Given the description of an element on the screen output the (x, y) to click on. 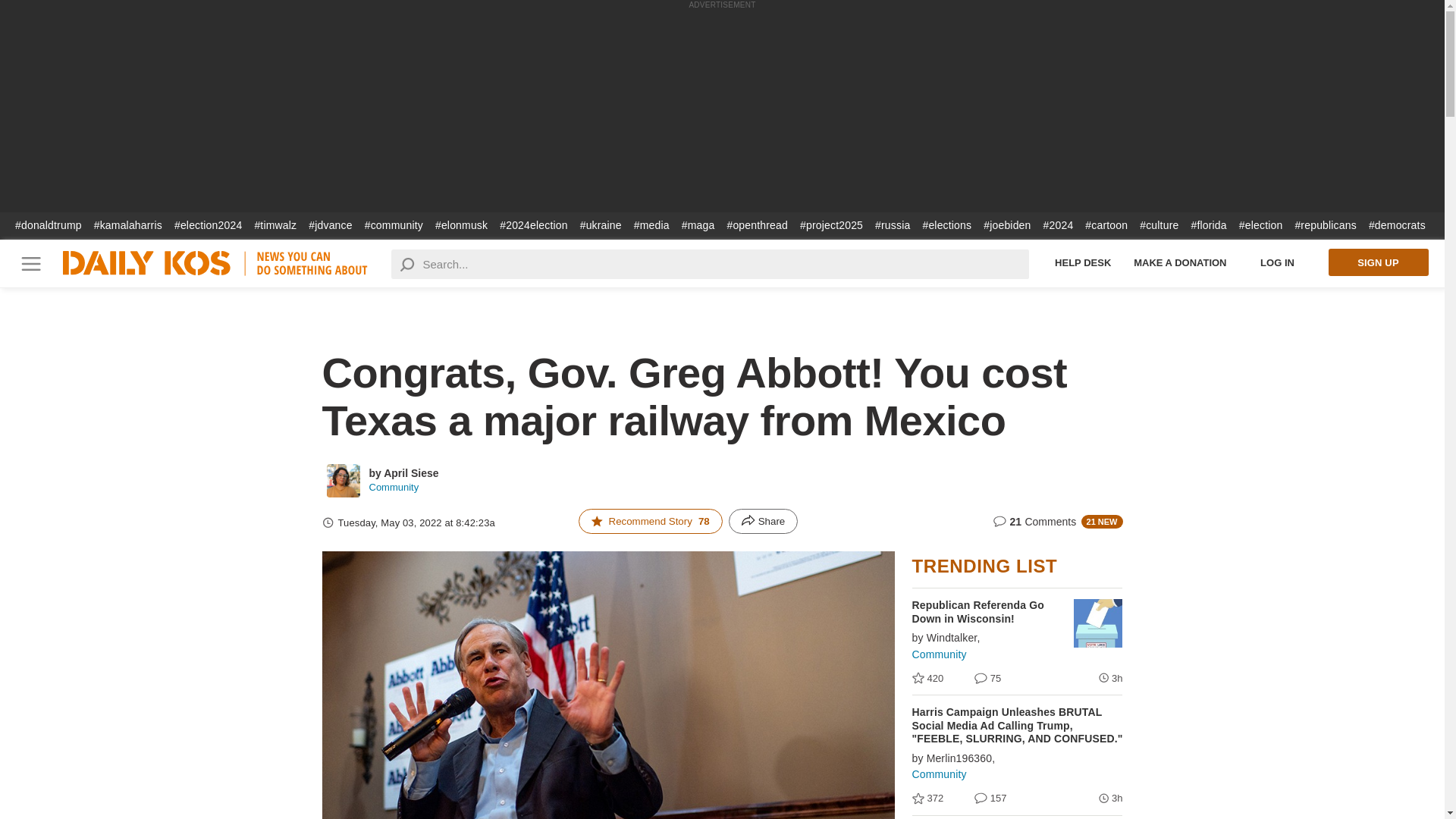
Make a Donation (1179, 262)
Help Desk (1082, 262)
MAKE A DONATION (1179, 262)
